Given the description of an element on the screen output the (x, y) to click on. 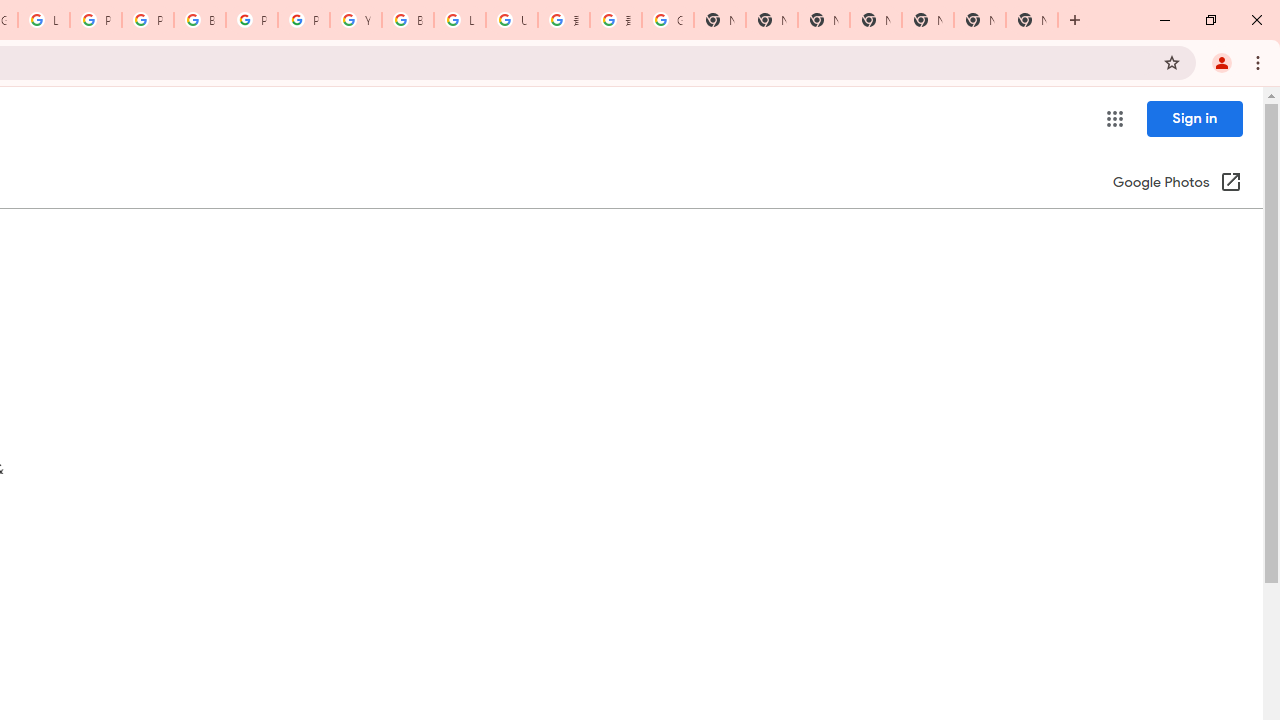
Privacy Help Center - Policies Help (95, 20)
New Tab (875, 20)
Browse Chrome as a guest - Computer - Google Chrome Help (407, 20)
New Tab (1032, 20)
YouTube (355, 20)
